Given the description of an element on the screen output the (x, y) to click on. 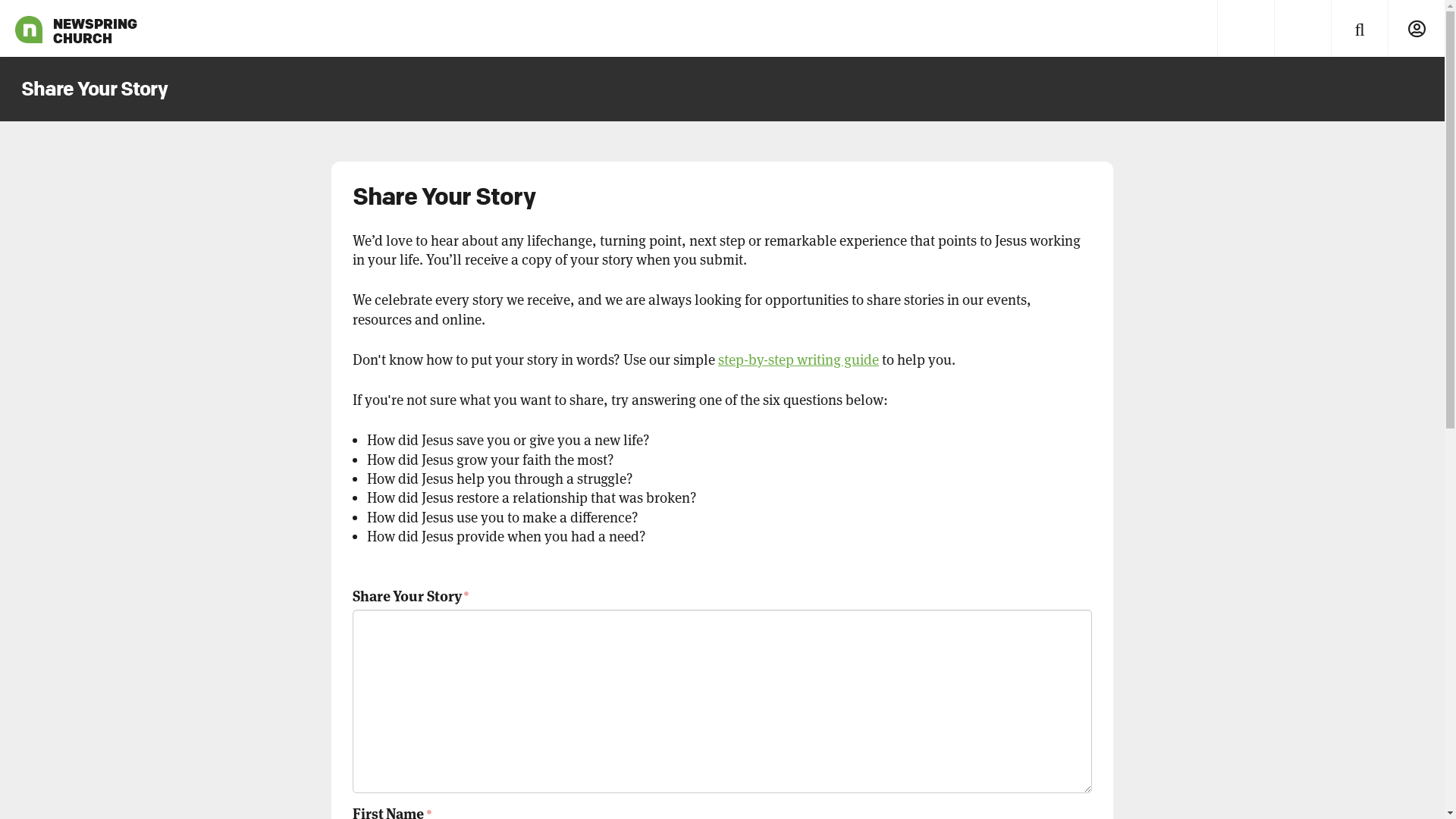
Menu Element type: hover (1245, 28)
Sign In Element type: hover (1415, 28)
step-by-step writing guide Element type: text (798, 359)
NEWSPRING CHURCH Element type: text (28, 28)
Locations Element type: hover (1302, 28)
Search Element type: hover (1358, 28)
